Given the description of an element on the screen output the (x, y) to click on. 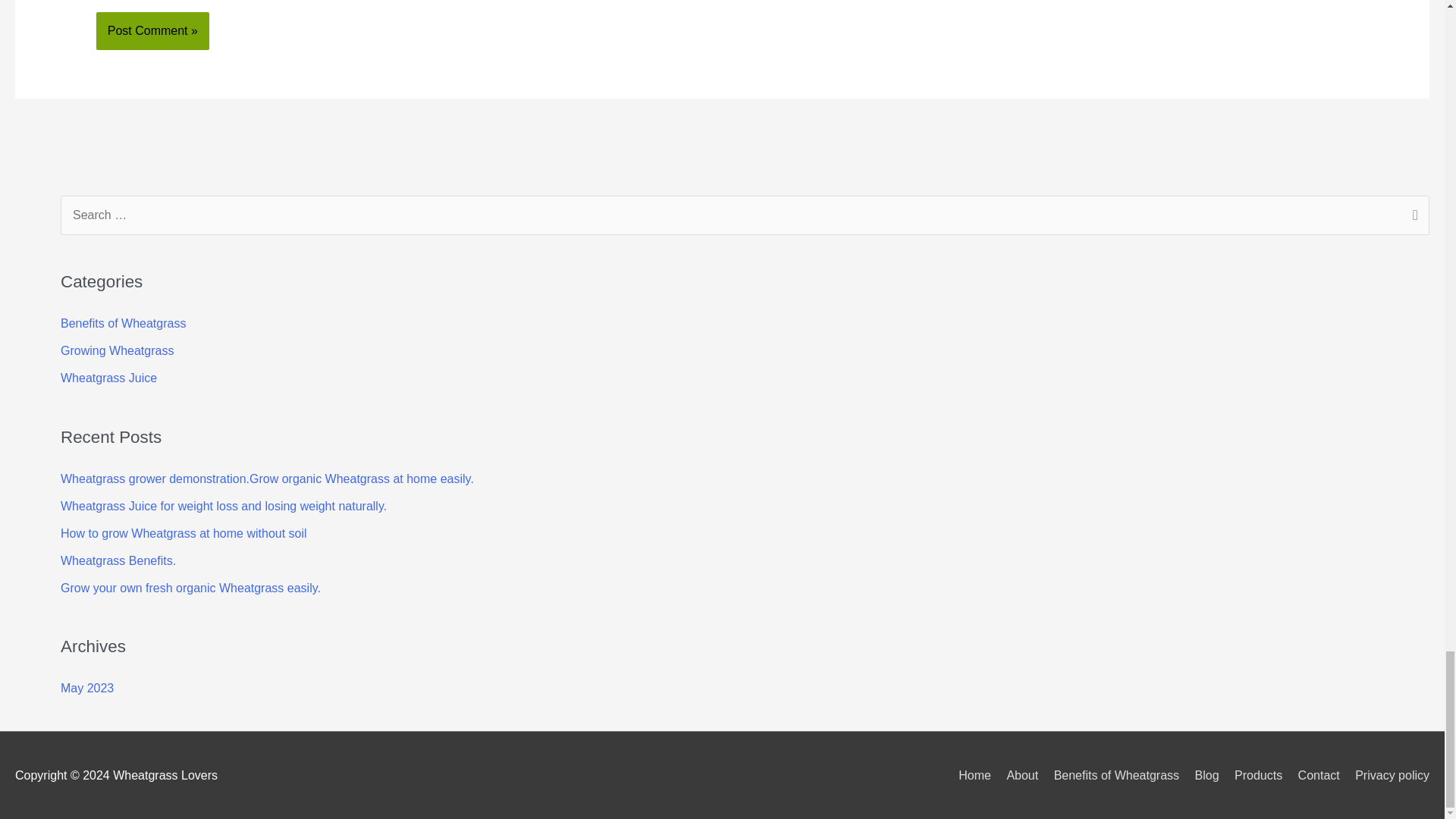
Wheatgrass Benefits. (118, 560)
Wheatgrass Juice (109, 377)
Benefits of Wheatgrass (123, 323)
May 2023 (87, 687)
Privacy policy (1385, 775)
Grow your own fresh organic Wheatgrass easily. (190, 587)
Contact (1312, 775)
Home (968, 775)
About (1016, 775)
Benefits of Wheatgrass (1110, 775)
How to grow Wheatgrass at home without soil (184, 533)
Products (1252, 775)
Growing Wheatgrass (117, 350)
